Given the description of an element on the screen output the (x, y) to click on. 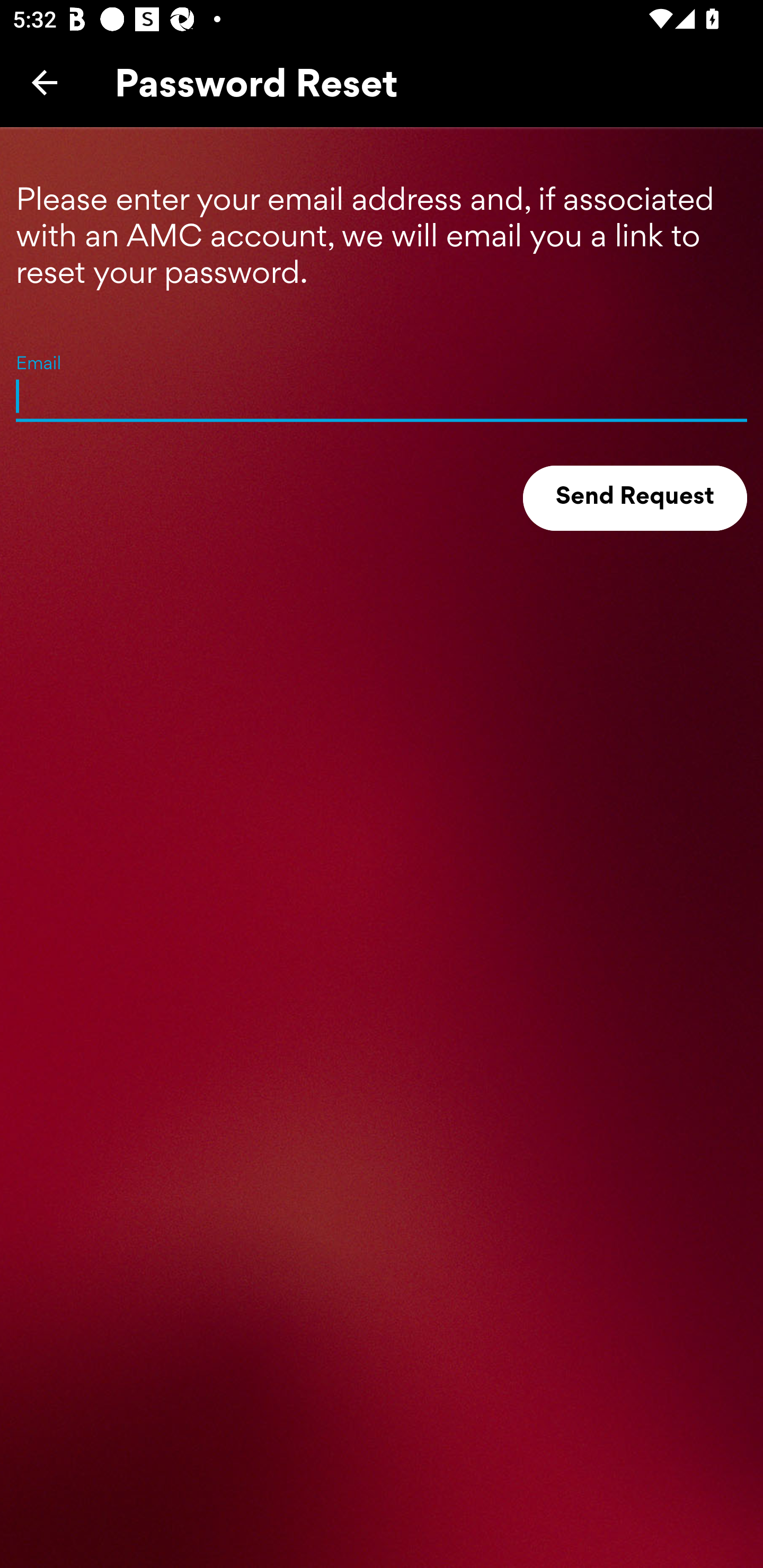
Back (44, 82)
Send Request (634, 498)
